Given the description of an element on the screen output the (x, y) to click on. 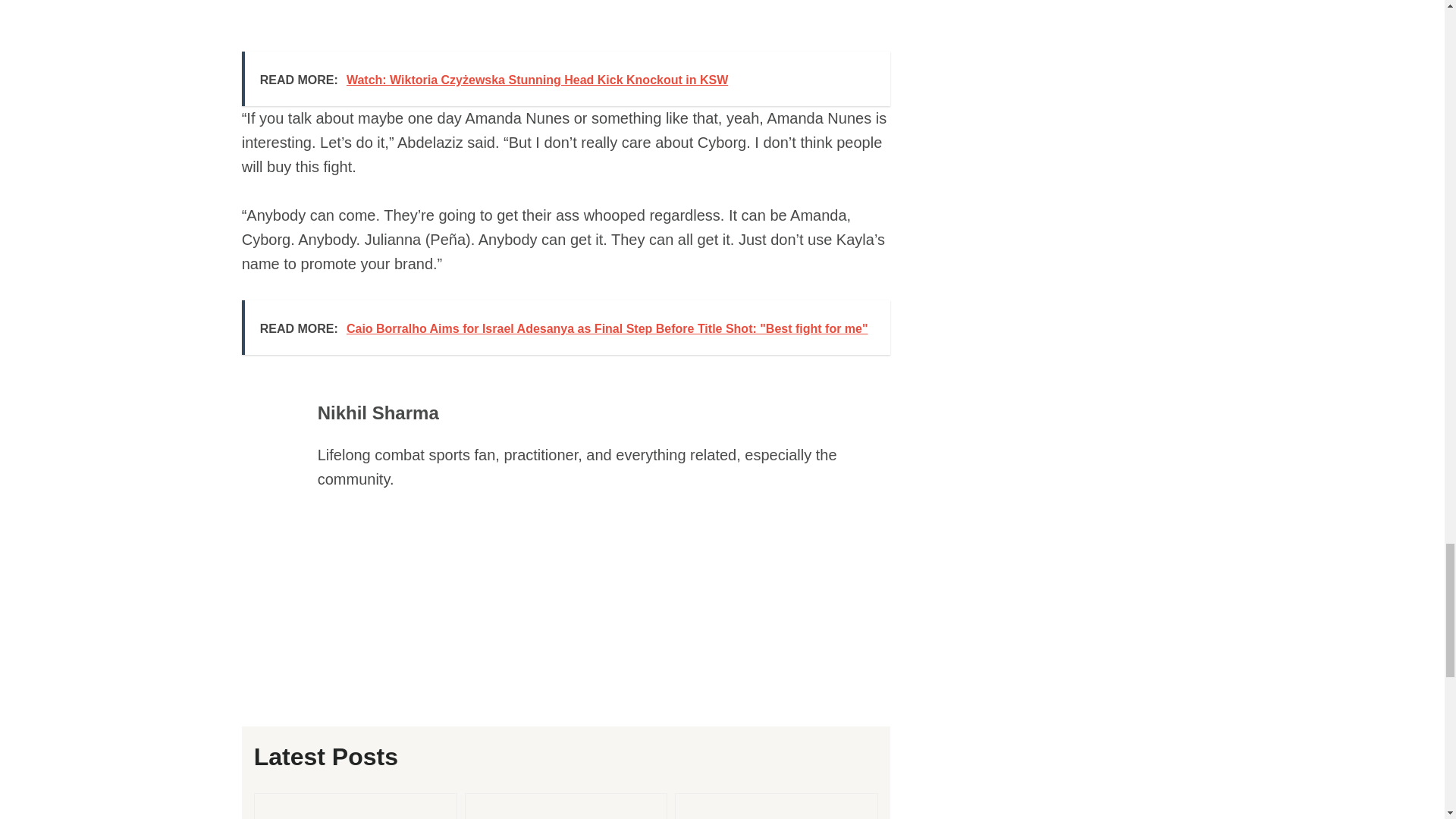
Posts by Nikhil Sharma (378, 412)
Is Jake Paul on Steroids? Expert Physician is Skeptical 4 (776, 806)
